Given the description of an element on the screen output the (x, y) to click on. 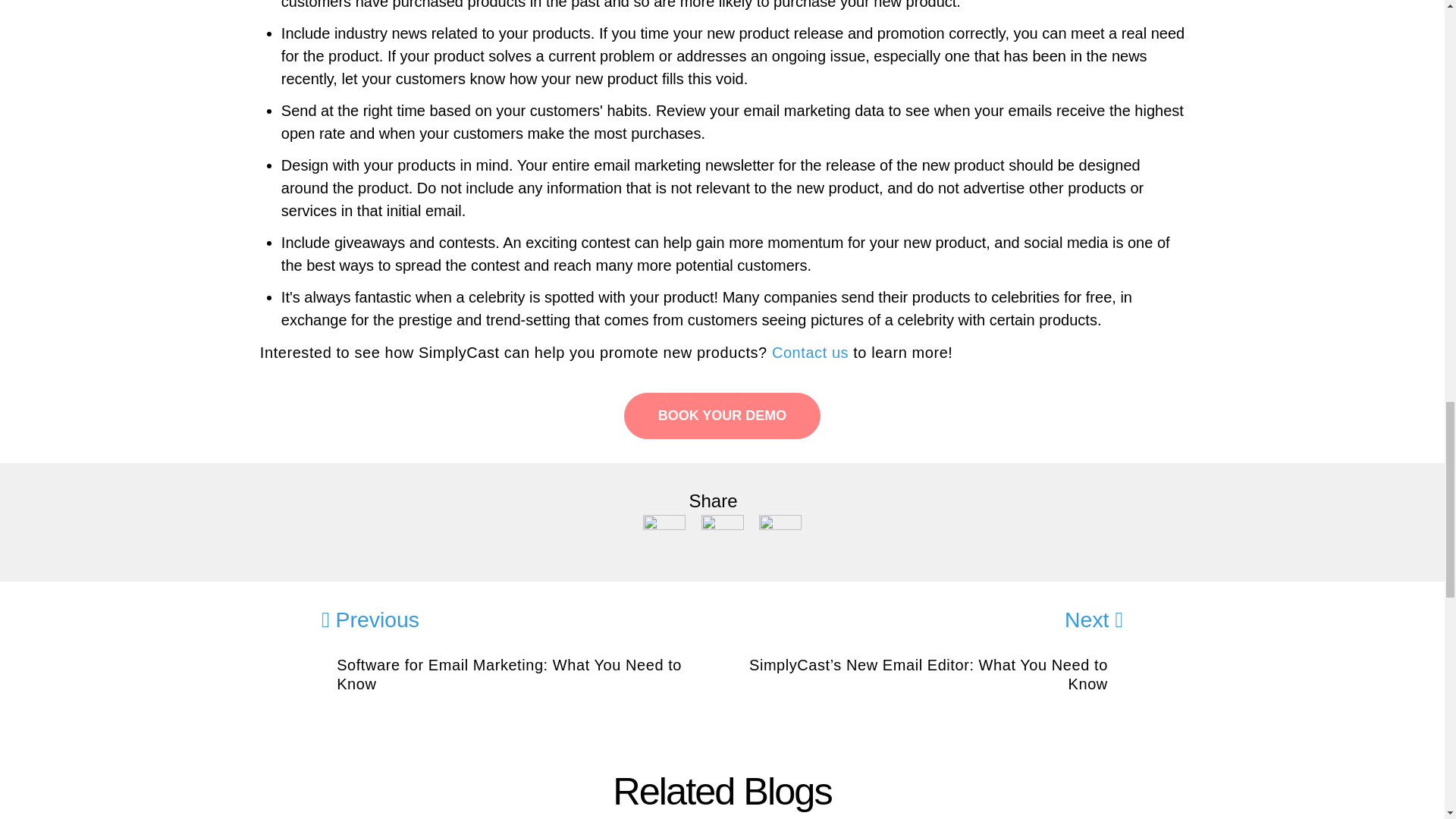
LinkedIn (722, 534)
Facebook (665, 534)
